Given the description of an element on the screen output the (x, y) to click on. 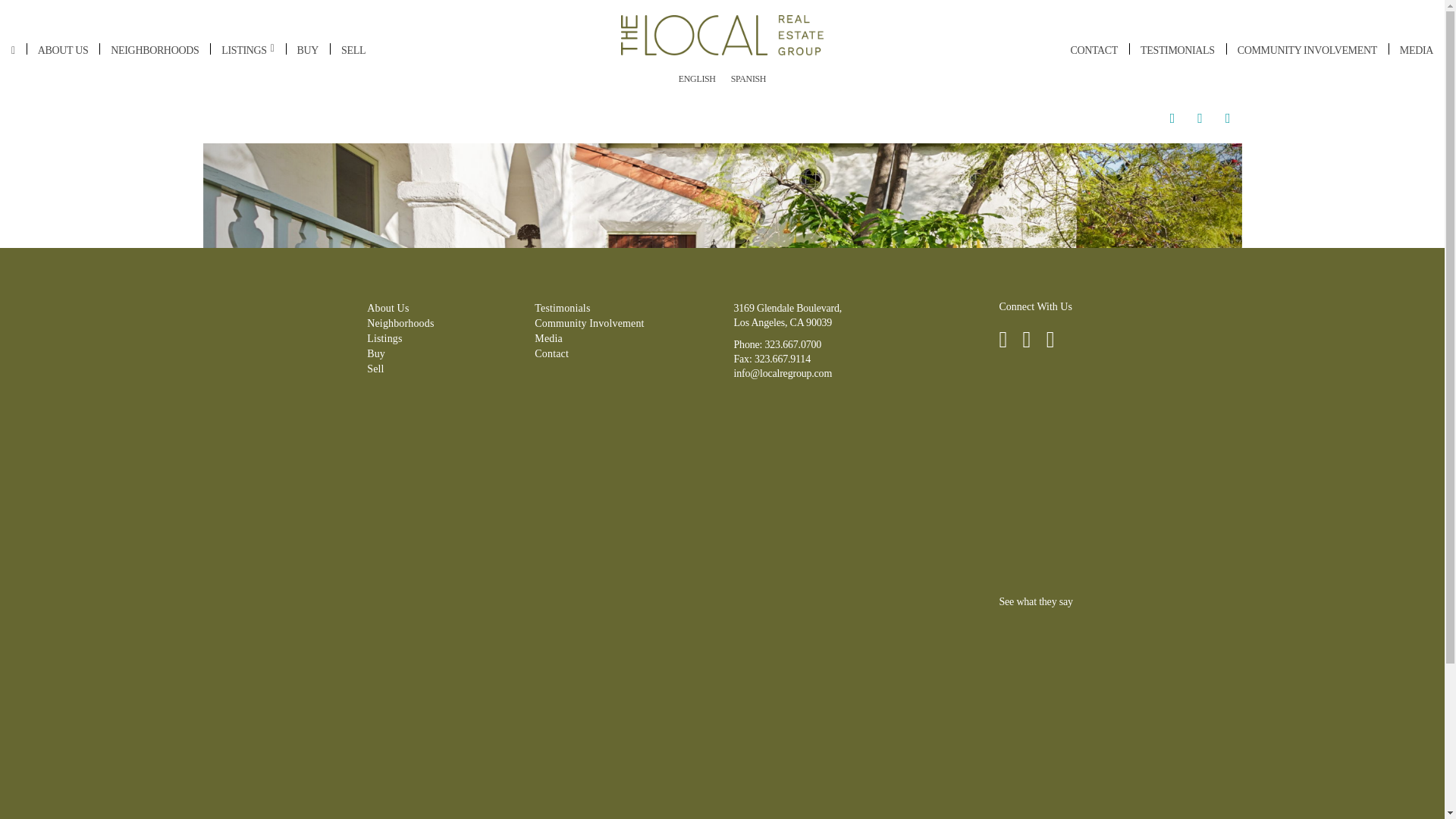
ENGLISH (697, 77)
ABOUT US (63, 49)
BUY (307, 49)
LISTINGS (247, 49)
SELL (353, 49)
NEIGHBORHOODS (154, 49)
